Given the description of an element on the screen output the (x, y) to click on. 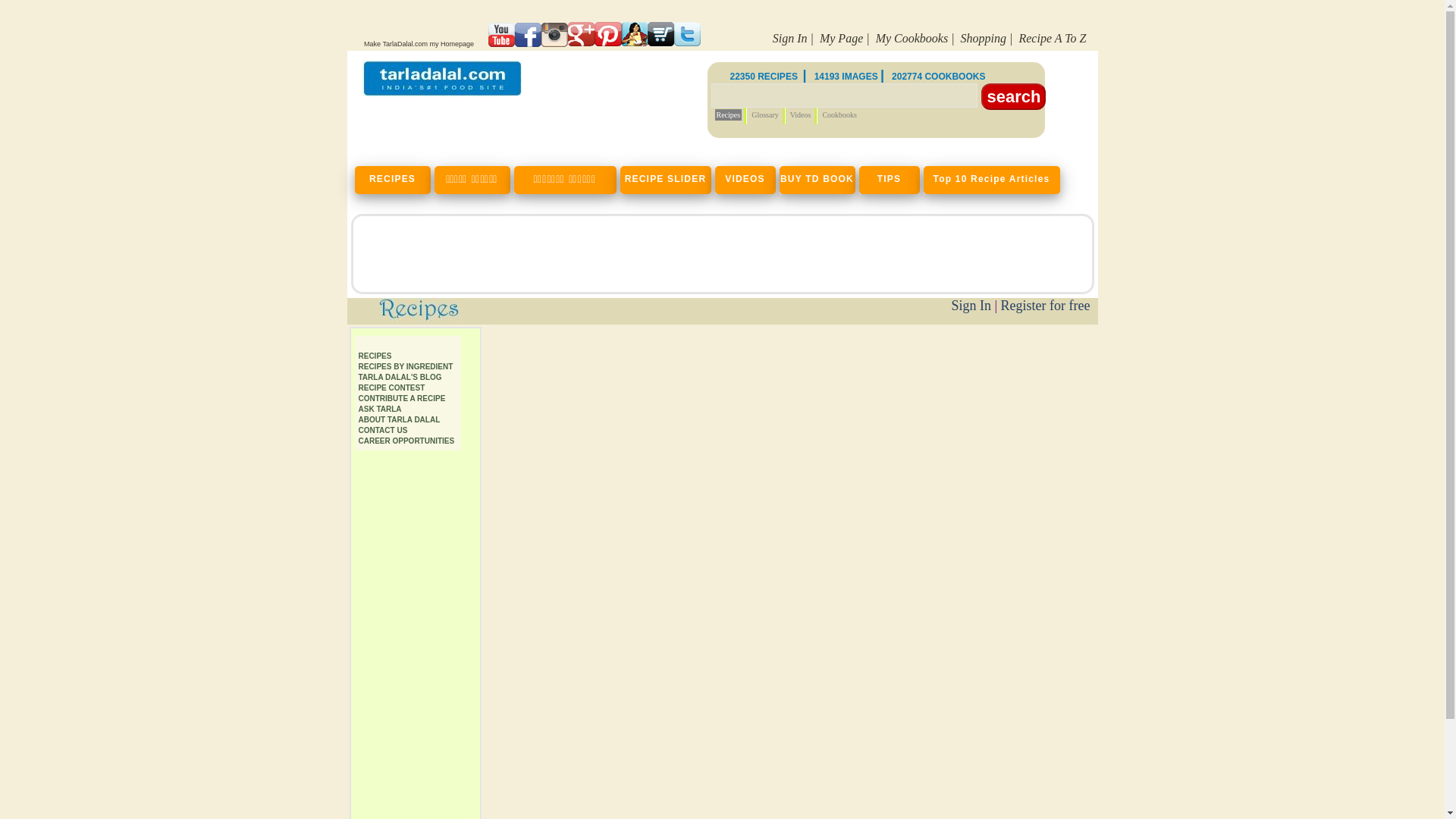
GoTo Home Page (441, 91)
Watch videos of your favorite Tarla Dalal recipes (746, 178)
Recipes (374, 356)
View exciting themed recipe sliders (993, 178)
View my page (841, 38)
Recipes (727, 114)
View exciting themed recipe sliders (667, 178)
search (1013, 96)
Glossary (764, 114)
Recipea A to Z (1051, 38)
My Page (841, 38)
My Cookbooks (912, 38)
RECIPES (394, 178)
search (1013, 96)
Sign In (790, 38)
